Given the description of an element on the screen output the (x, y) to click on. 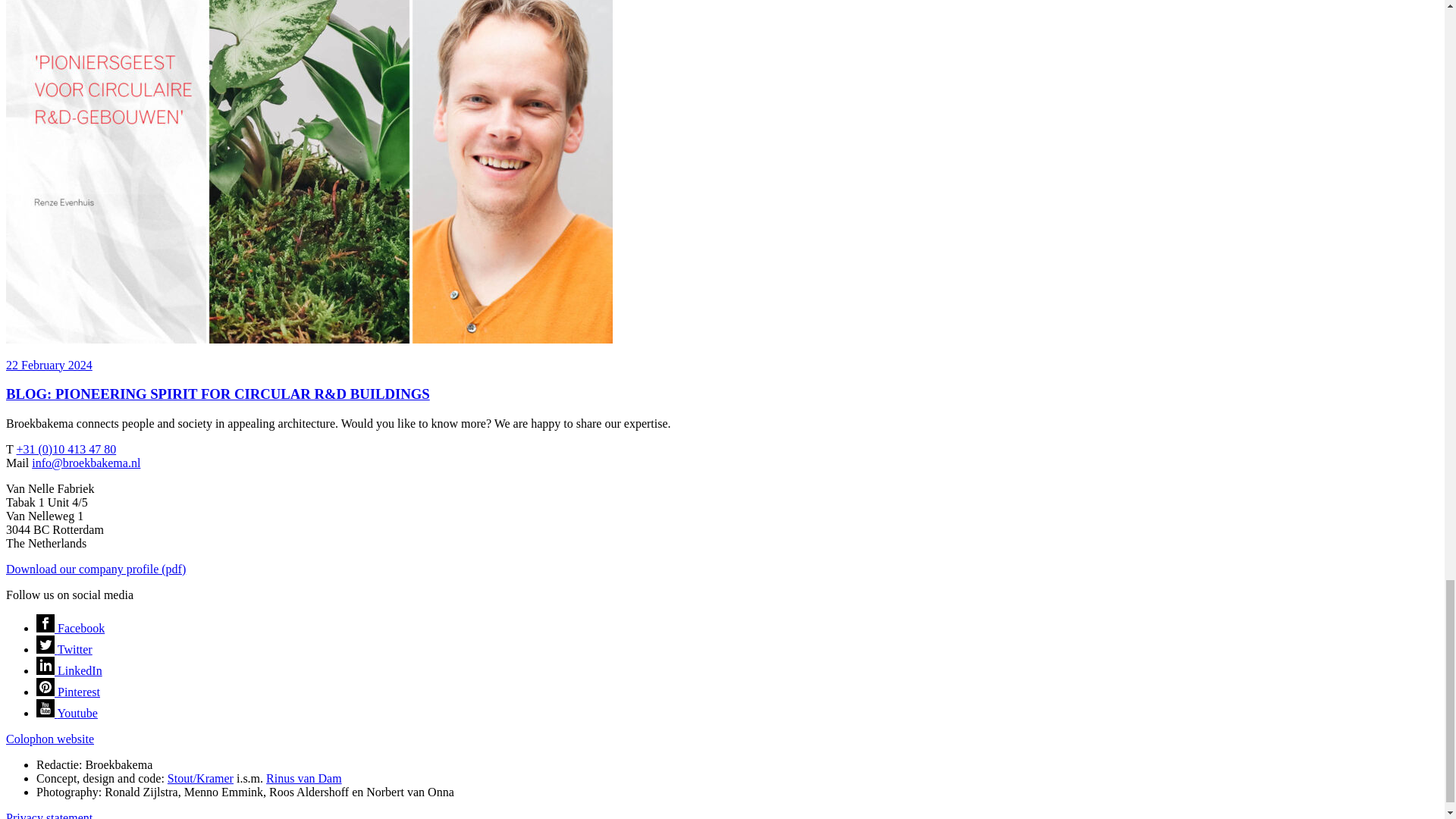
LinkedIn (68, 670)
Colophon website (49, 738)
Facebook (70, 627)
Pinterest (68, 691)
Twitter (64, 649)
Rinus van Dam (304, 778)
Youtube (66, 712)
Colophon website (49, 738)
Rinus van Dam (304, 778)
